Given the description of an element on the screen output the (x, y) to click on. 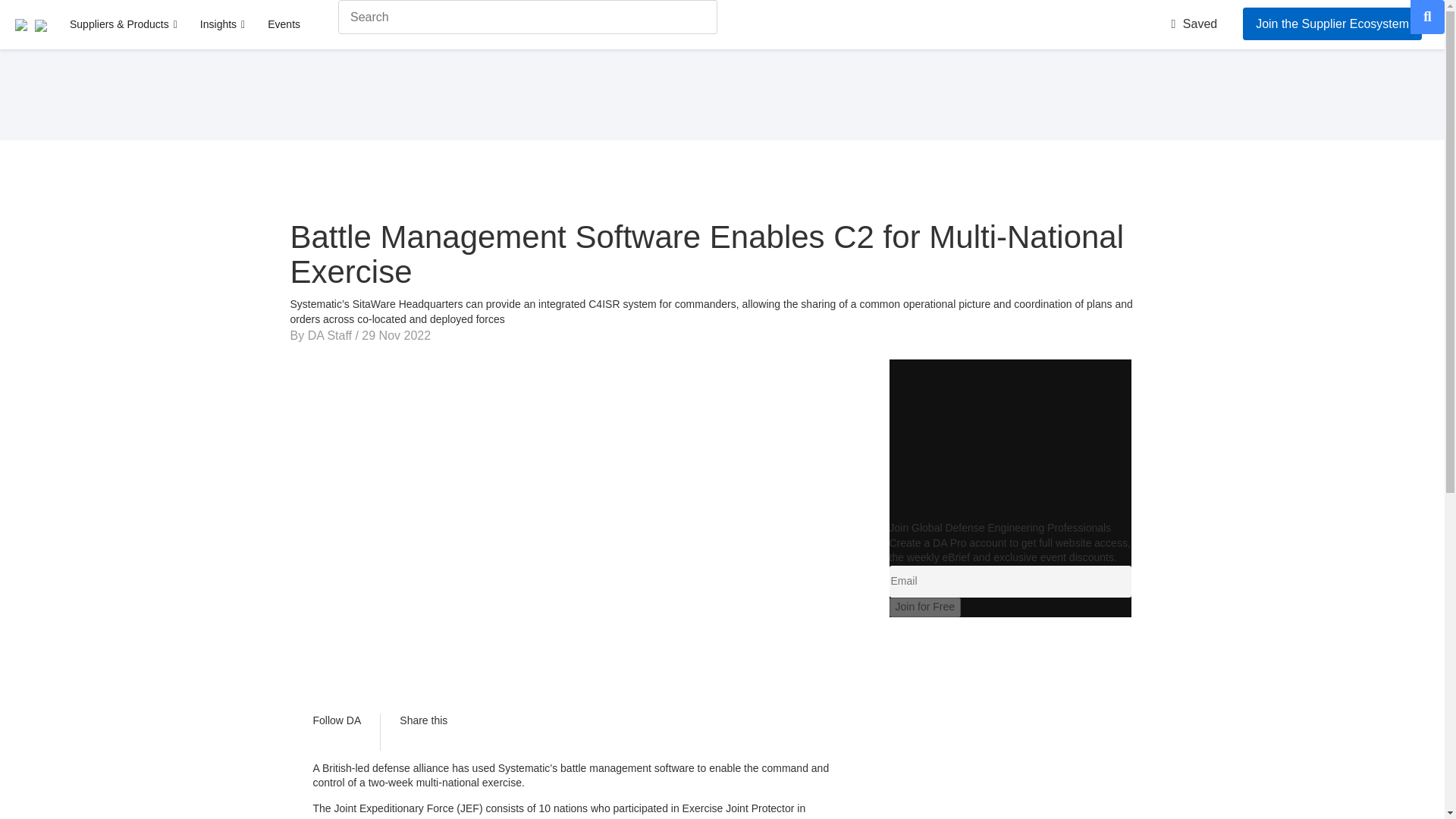
Saved (1194, 23)
Events (283, 24)
Join the Supplier Ecosystem (1332, 23)
Insights (221, 24)
